Given the description of an element on the screen output the (x, y) to click on. 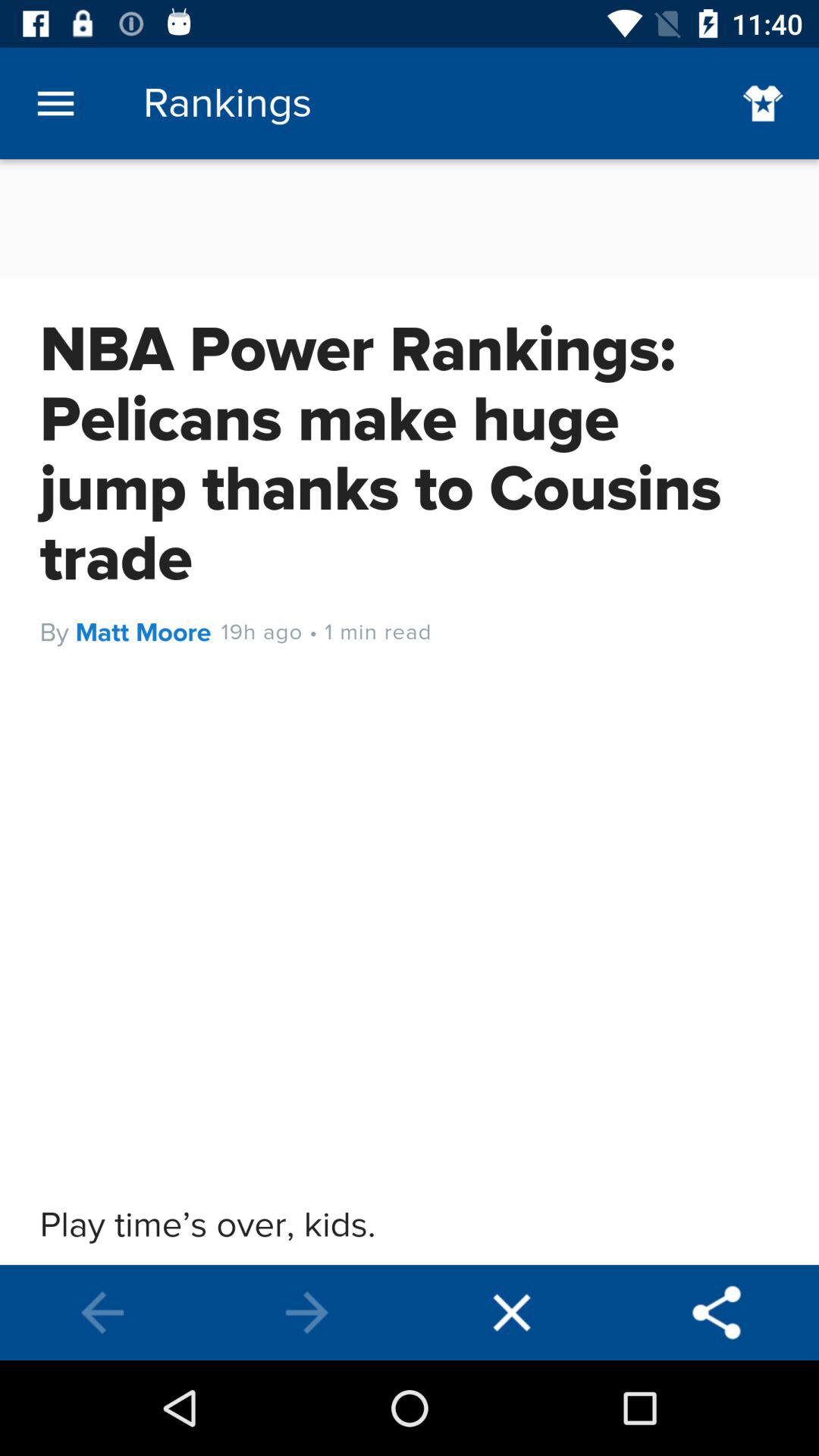
share button (716, 1312)
